Given the description of an element on the screen output the (x, y) to click on. 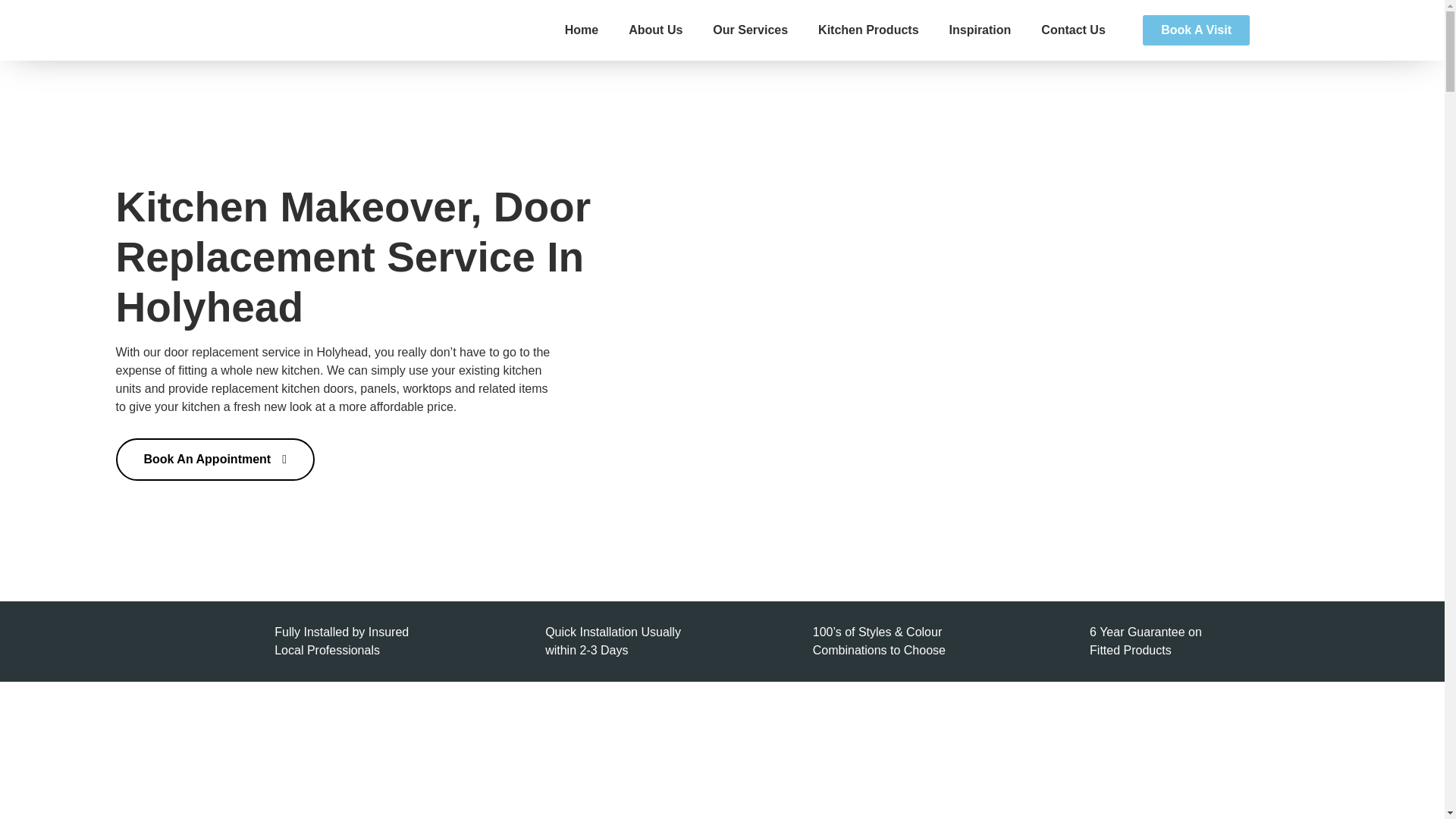
Home (581, 30)
Contact Us (1072, 30)
About Us (654, 30)
Kitchen Products (868, 30)
Our Services (750, 30)
Inspiration (980, 30)
